Given the description of an element on the screen output the (x, y) to click on. 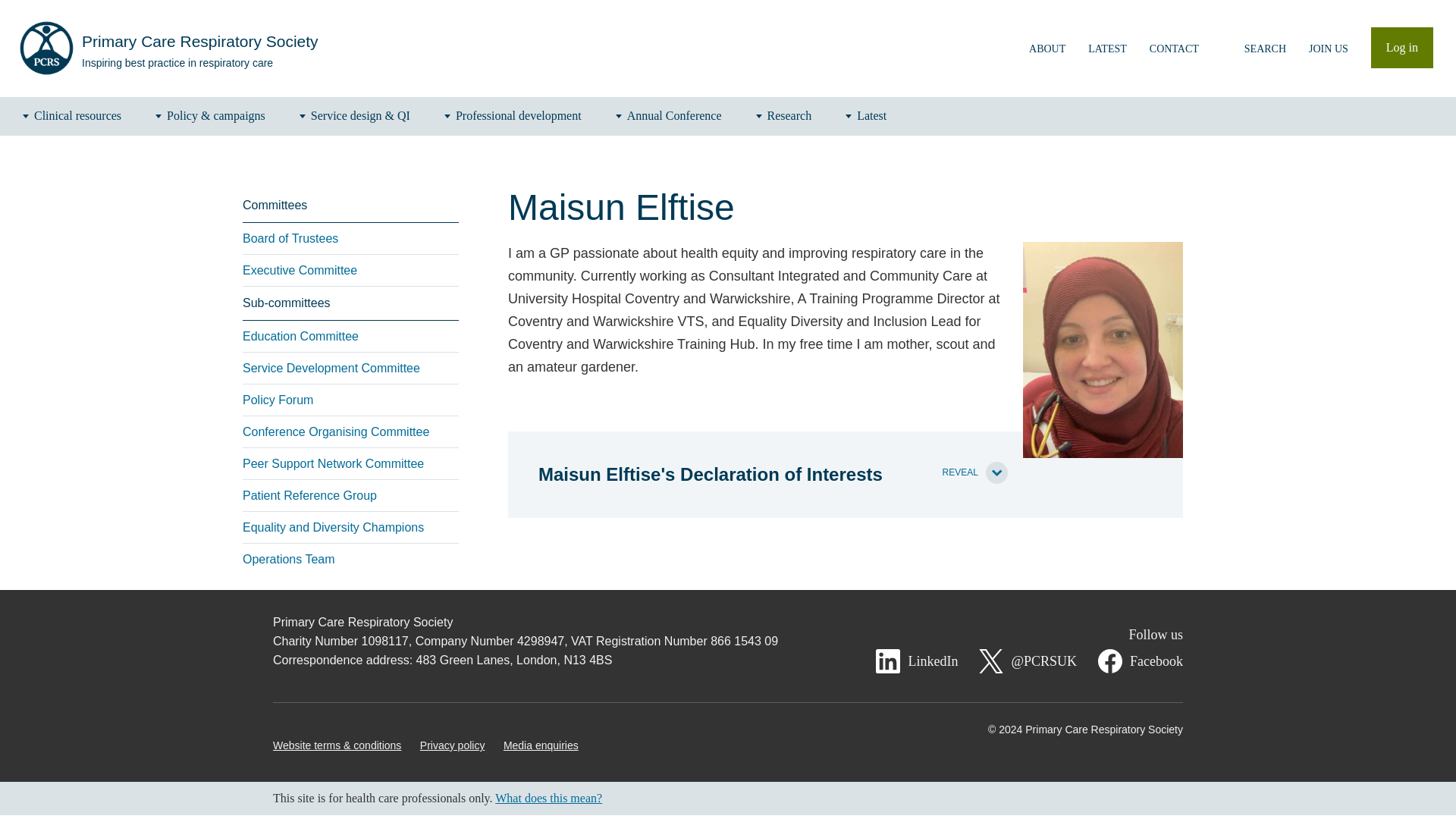
Annual Conference (668, 116)
LATEST (1107, 48)
JOIN US (1328, 48)
Log in (1401, 47)
Primary Care Respiratory Society (168, 48)
Clinical resources (71, 116)
ABOUT (1047, 48)
Professional development (512, 116)
Home (168, 48)
CONTACT (1173, 48)
SEARCH (1253, 48)
